Given the description of an element on the screen output the (x, y) to click on. 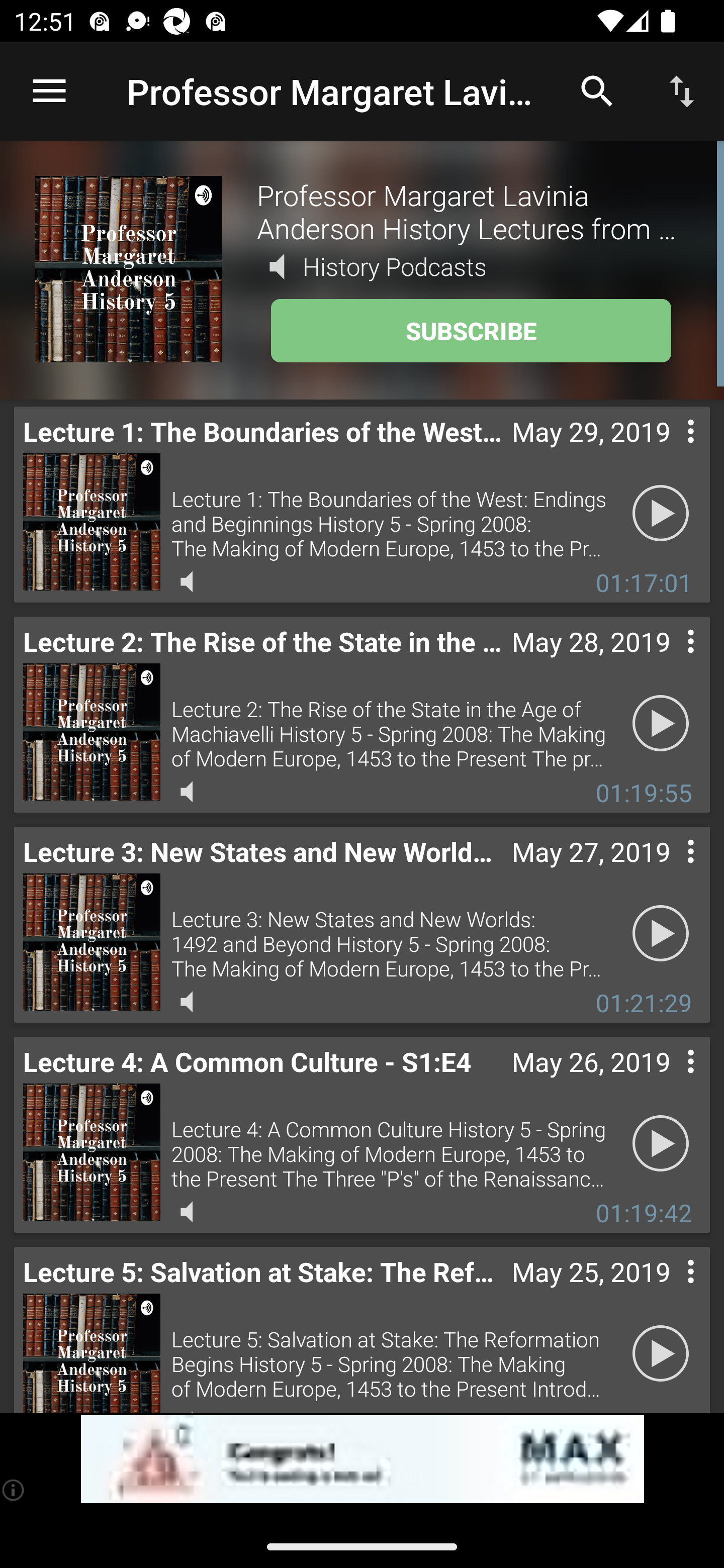
Open navigation sidebar (49, 91)
Search (597, 90)
Sort (681, 90)
SUBSCRIBE (470, 330)
Contextual menu (668, 451)
Play (660, 513)
Contextual menu (668, 661)
Play (660, 723)
Contextual menu (668, 870)
Play (660, 933)
Contextual menu (668, 1080)
Play (660, 1143)
Contextual menu (668, 1290)
Play (660, 1353)
app-monetization (362, 1459)
(i) (14, 1489)
